Given the description of an element on the screen output the (x, y) to click on. 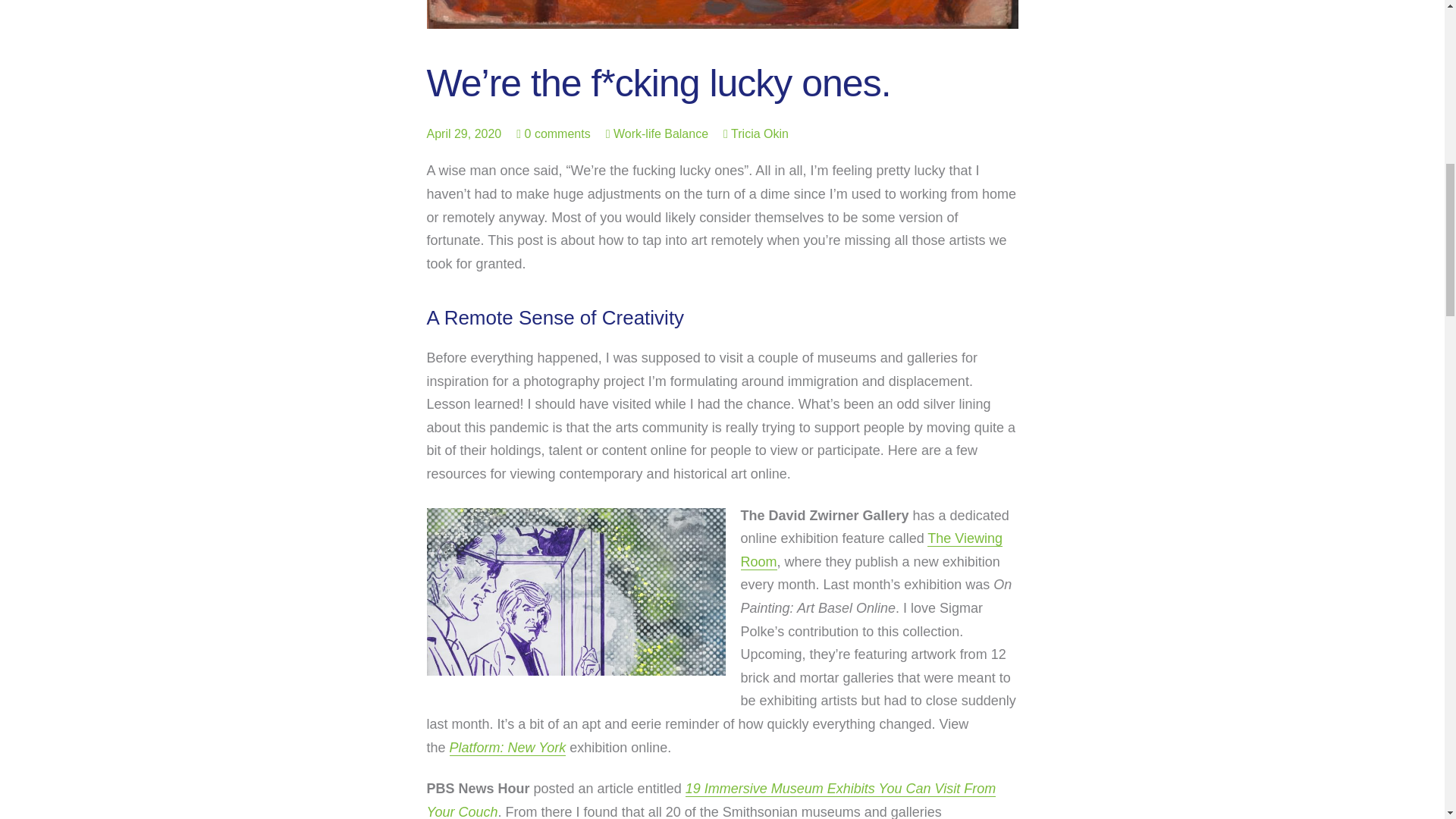
0 comments (557, 133)
Work-life Balance (659, 133)
The Viewing Room at David Zwirner Gallery (871, 550)
Platform: New York (507, 747)
View all posts by Tricia Okin (756, 133)
19 Immersive Museum Exhibits You Can Visit From Your Couch (710, 800)
Tricia Okin (756, 133)
The Viewing Room (871, 550)
